Given the description of an element on the screen output the (x, y) to click on. 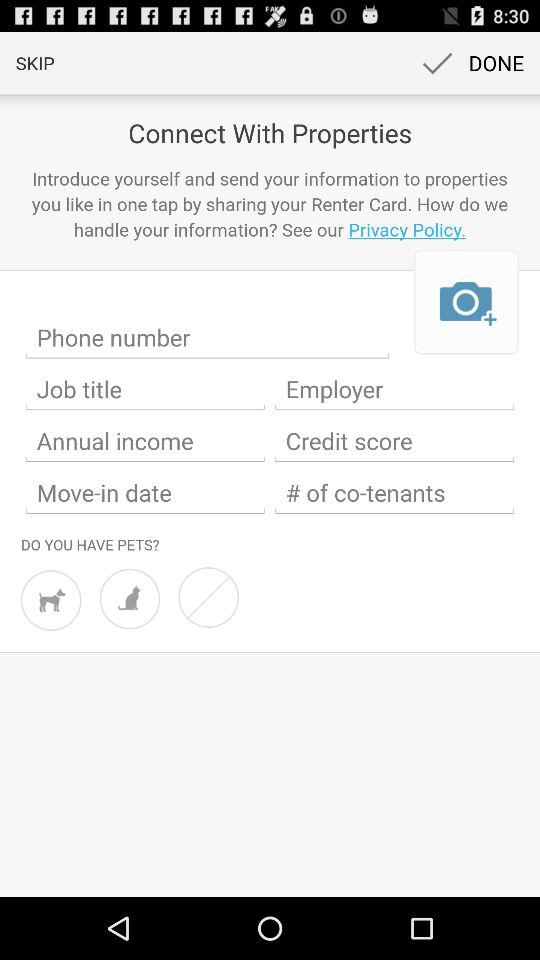
enter annual income (145, 441)
